Given the description of an element on the screen output the (x, y) to click on. 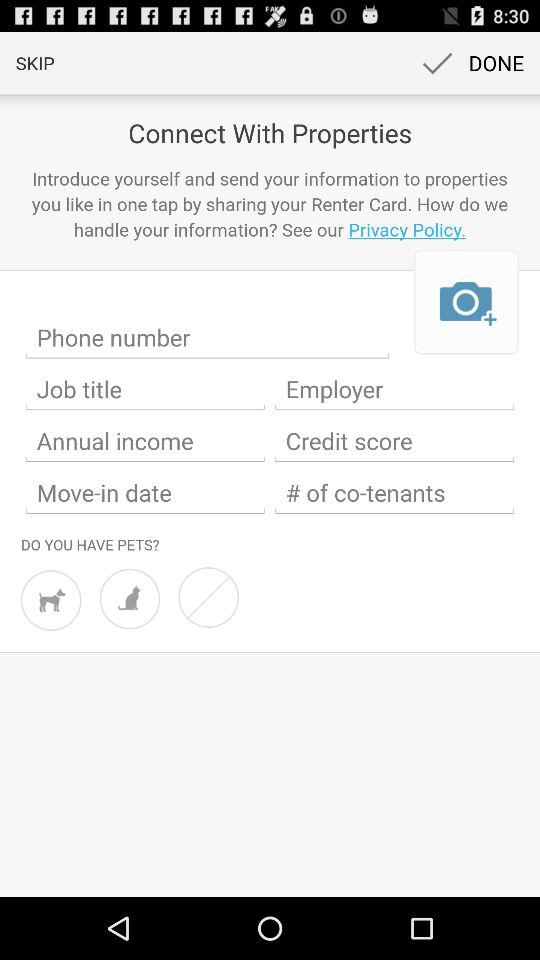
enter annual income (145, 441)
